Given the description of an element on the screen output the (x, y) to click on. 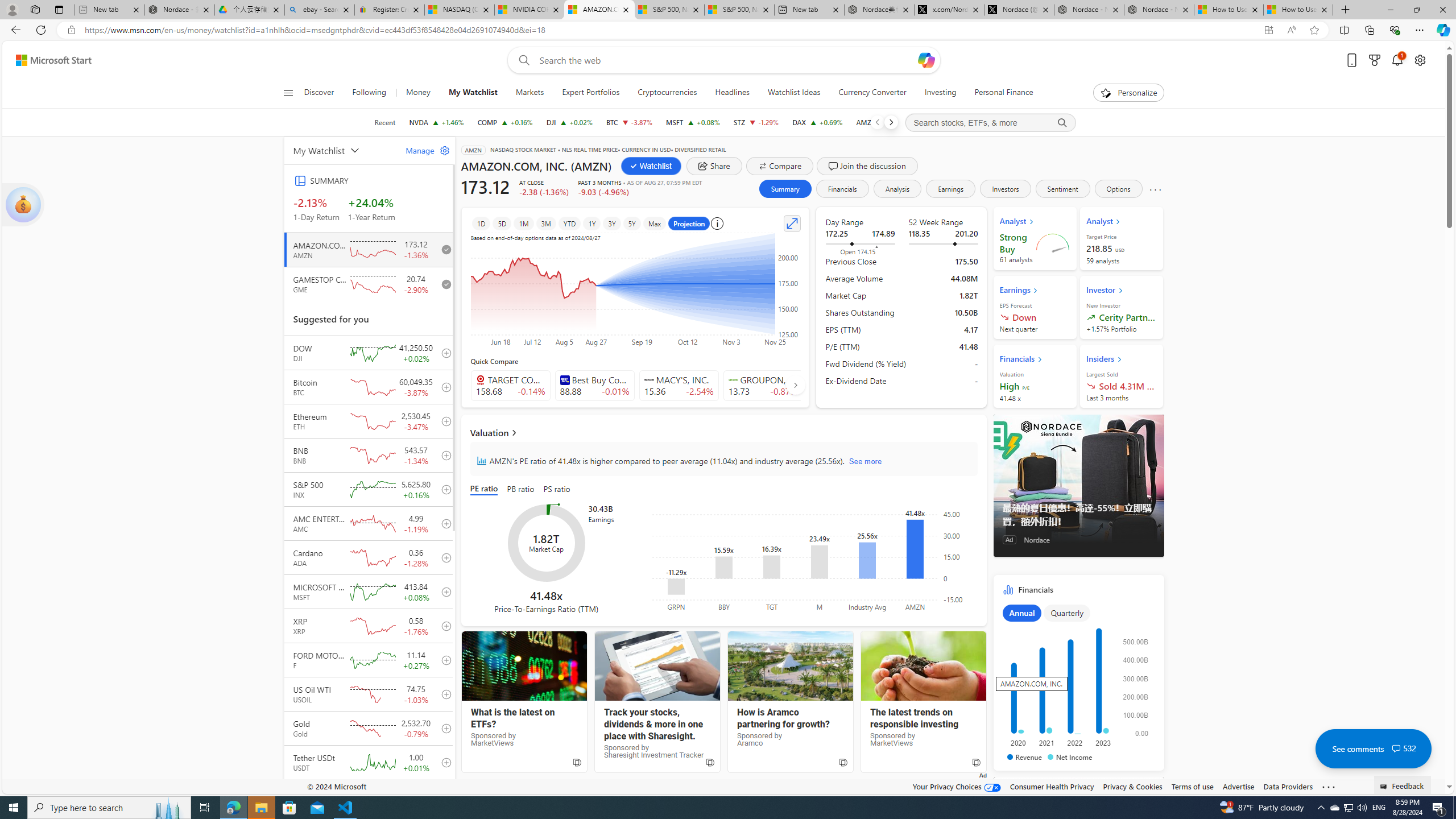
Class: feedback_link_icon-DS-EntryPoint1-1 (1384, 786)
See more (1328, 787)
NVDA NVIDIA CORPORATION increase 128.30 +1.84 +1.46% (435, 122)
Watchlist (650, 166)
Consumer Health Privacy (1051, 785)
AMZN AMAZON.COM, INC. decrease 173.12 -2.38 -1.36% (882, 122)
Valuation (723, 432)
x.com/NordaceOfficial (949, 9)
Manage (422, 150)
See comments 532 (1372, 748)
Consumer Health Privacy (1051, 786)
